Given the description of an element on the screen output the (x, y) to click on. 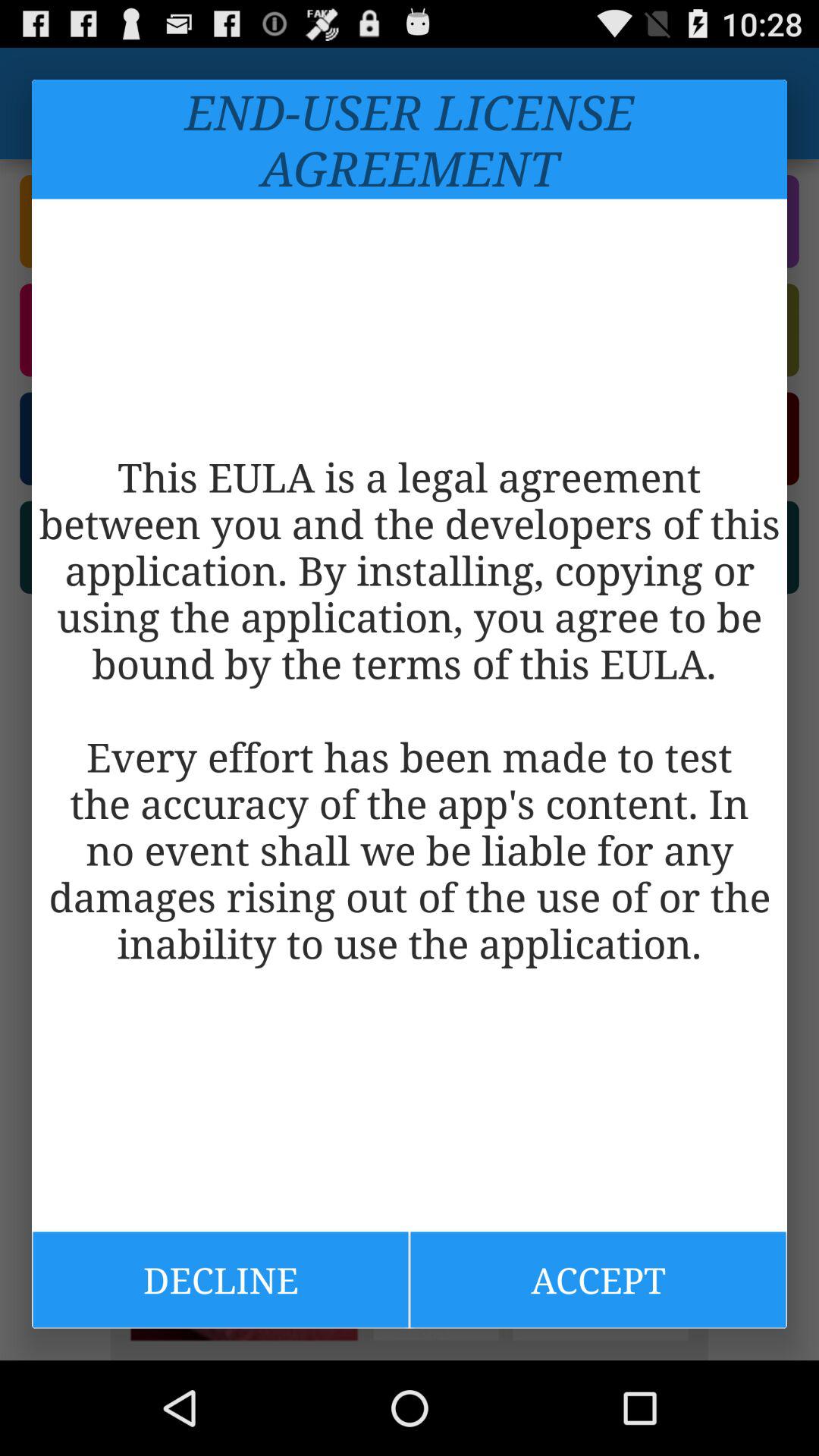
jump to accept (598, 1279)
